Given the description of an element on the screen output the (x, y) to click on. 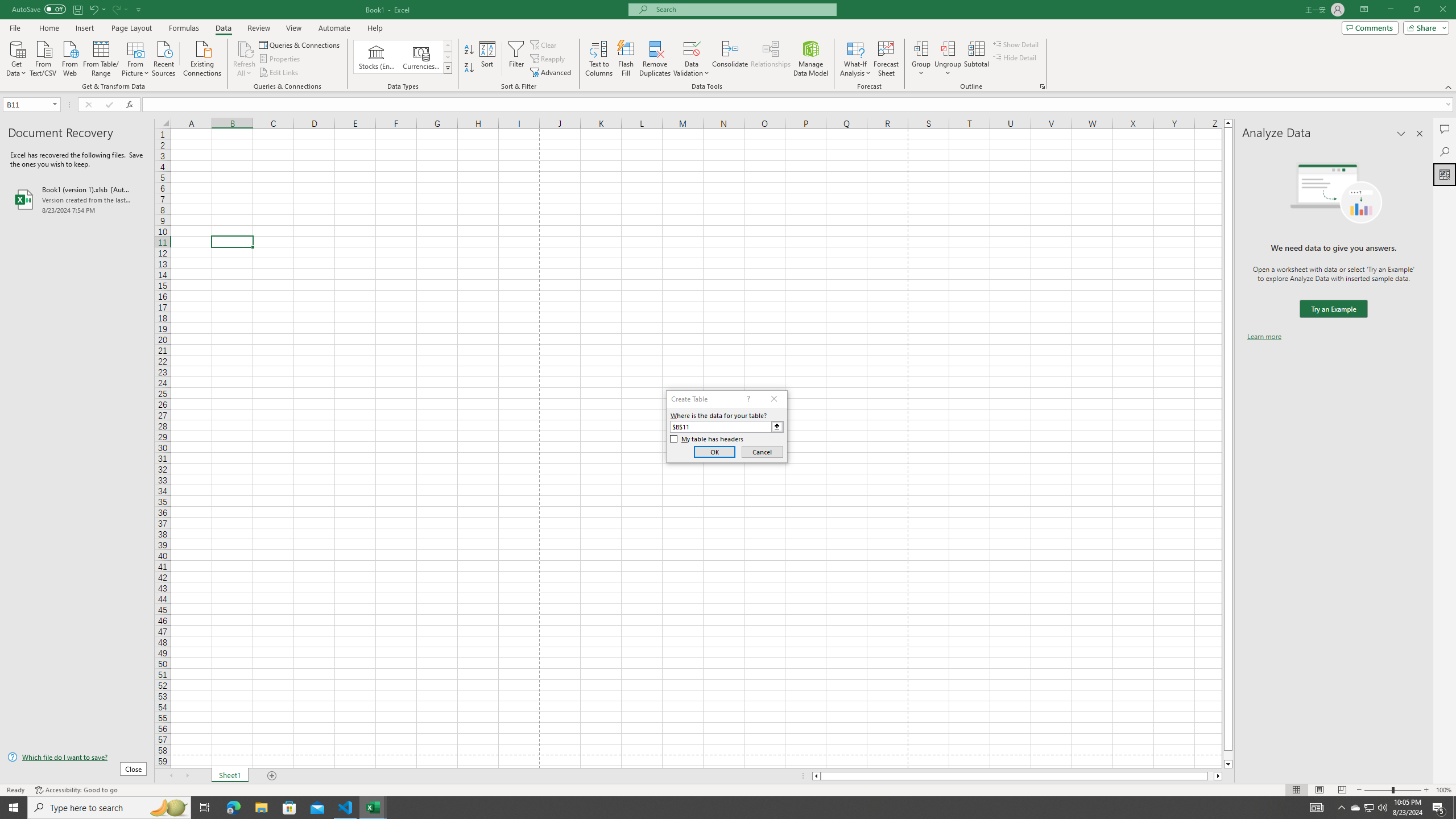
Group and Outline Settings (1042, 85)
Recent Sources (163, 57)
Zoom In (1426, 790)
Refresh All (244, 48)
Minimize (1390, 9)
Remove Duplicates (654, 58)
Open (54, 104)
Collapse the Ribbon (1448, 86)
Properties (280, 58)
Class: MsoCommandBar (728, 45)
Search (1444, 151)
Advanced... (551, 72)
Page Break Preview (1342, 790)
